Given the description of an element on the screen output the (x, y) to click on. 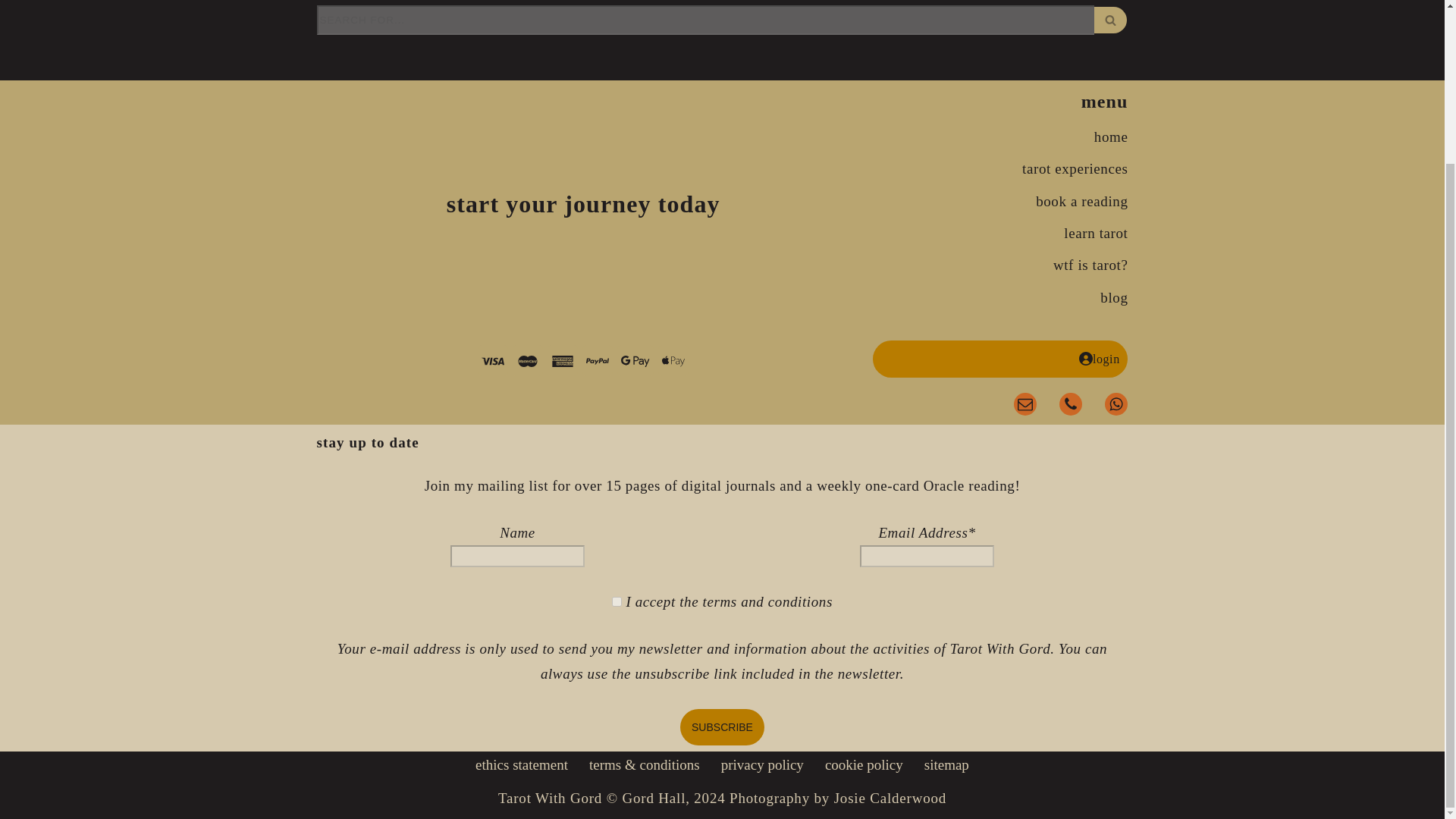
Call Me (1070, 403)
on (616, 601)
WhatsApp (1115, 403)
Subscribe (721, 727)
Email Me (1024, 403)
